Given the description of an element on the screen output the (x, y) to click on. 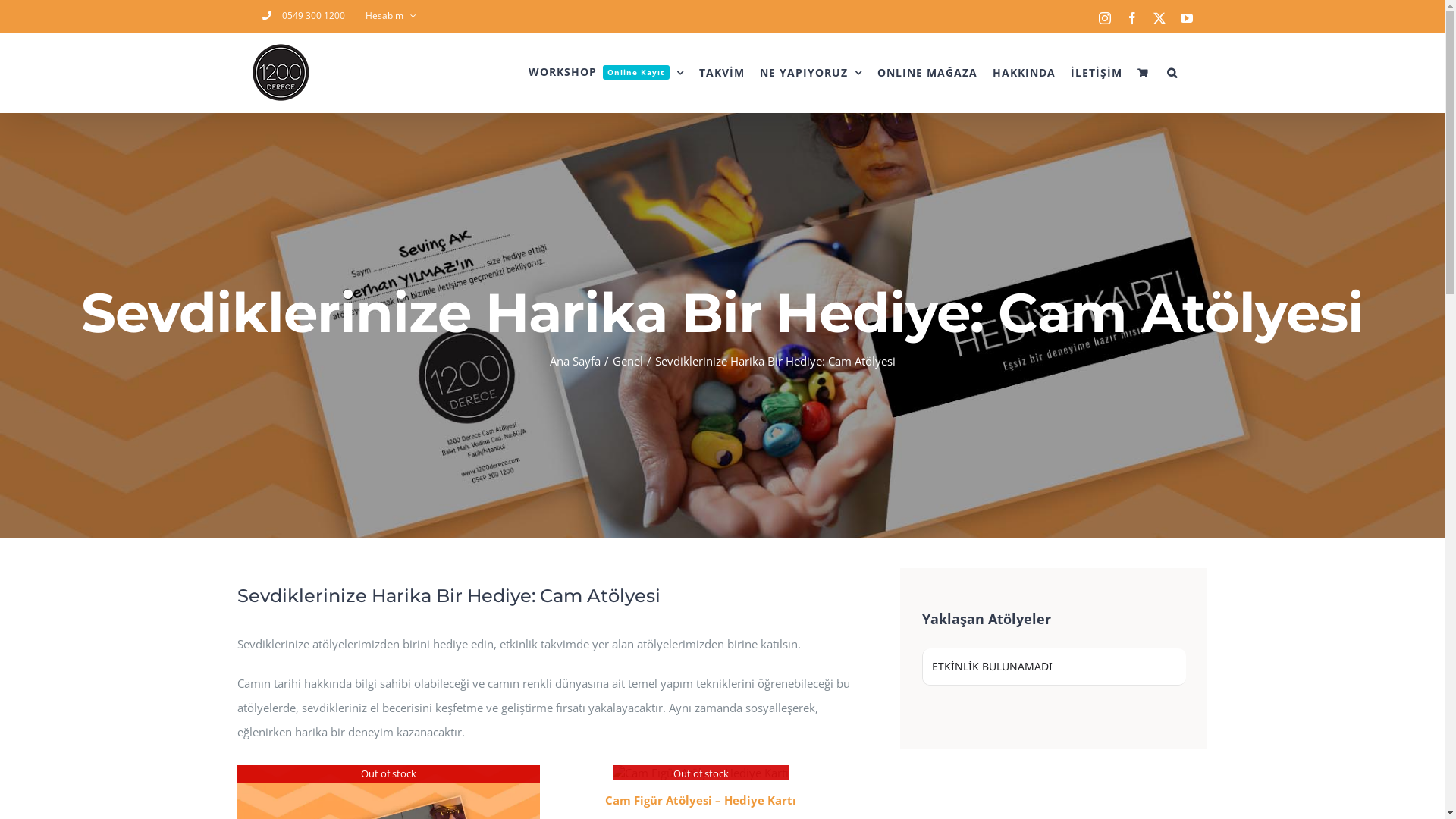
Ana Sayfa Element type: text (574, 360)
Ara Element type: hover (1171, 72)
Facebook Element type: text (1131, 18)
HAKKINDA Element type: text (1022, 72)
0549 300 1200 Element type: text (302, 15)
Genel Element type: text (627, 360)
NE YAPIYORUZ Element type: text (810, 72)
Instagram Element type: text (1104, 18)
YouTube Element type: text (1185, 18)
Twitter Element type: text (1158, 18)
